Given the description of an element on the screen output the (x, y) to click on. 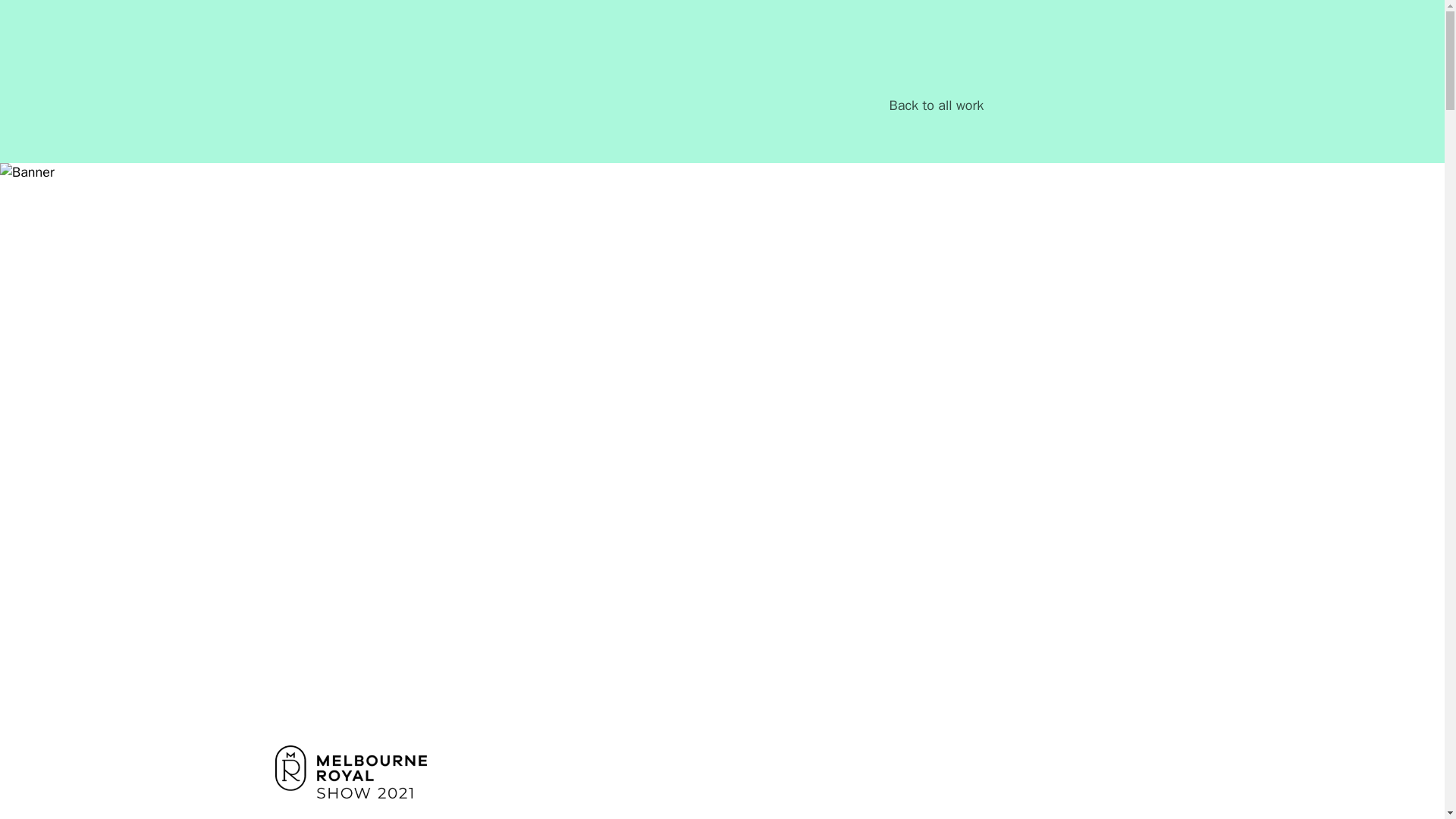
Melbourne's leading Digital Agency - Calico (324, 63)
Back to all work (936, 105)
Back to all work (936, 105)
